Given the description of an element on the screen output the (x, y) to click on. 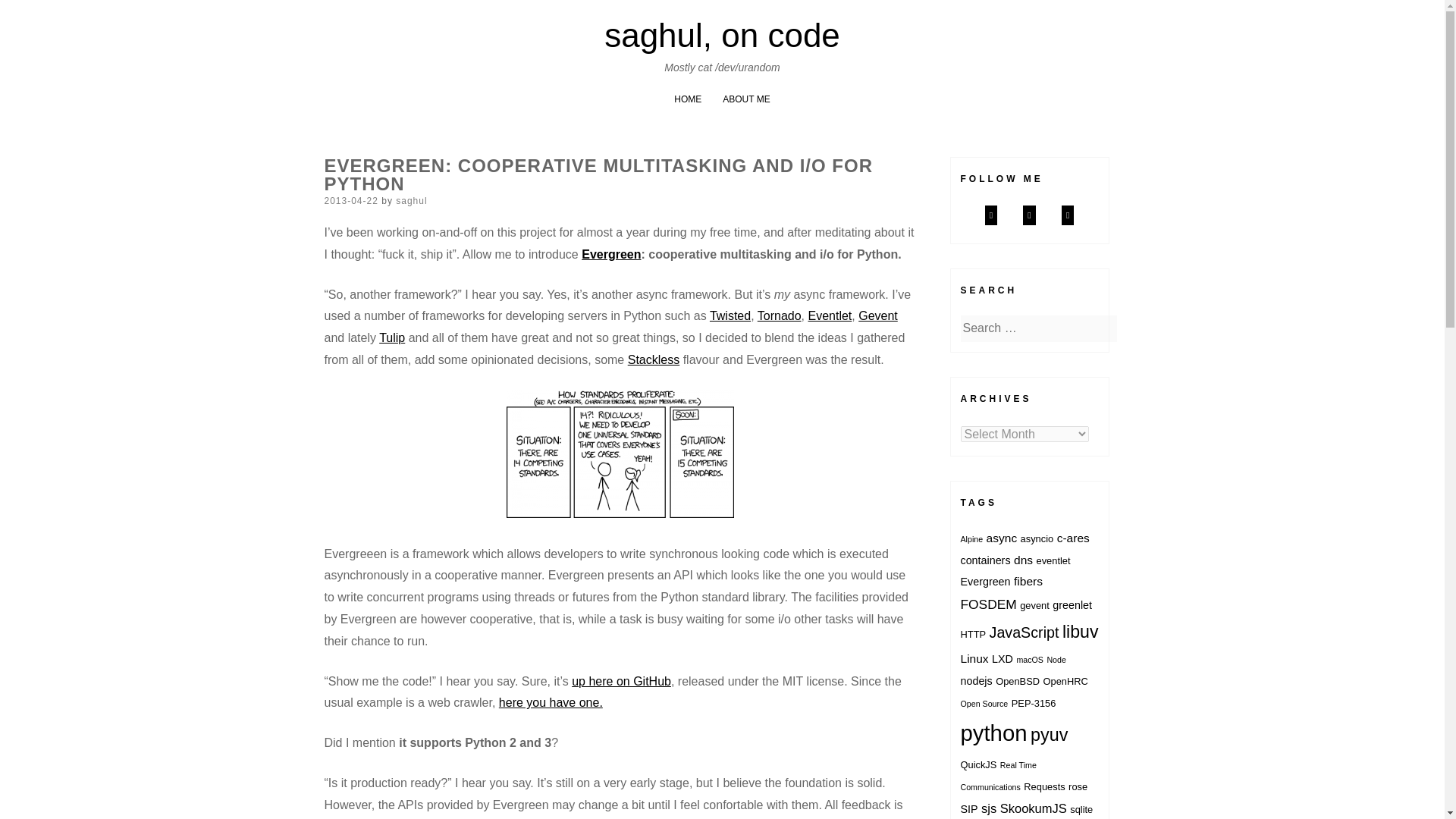
Tornado (779, 315)
Tulip (391, 337)
Evergreen (610, 254)
2013-04-22 (351, 200)
Search (29, 13)
Stackless (653, 359)
up here on GitHub (621, 680)
here you have one. (550, 702)
saghul, on code (722, 35)
Eventlet (829, 315)
Twisted (730, 315)
HOME (687, 99)
Alpine (970, 538)
Gevent (878, 315)
